Given the description of an element on the screen output the (x, y) to click on. 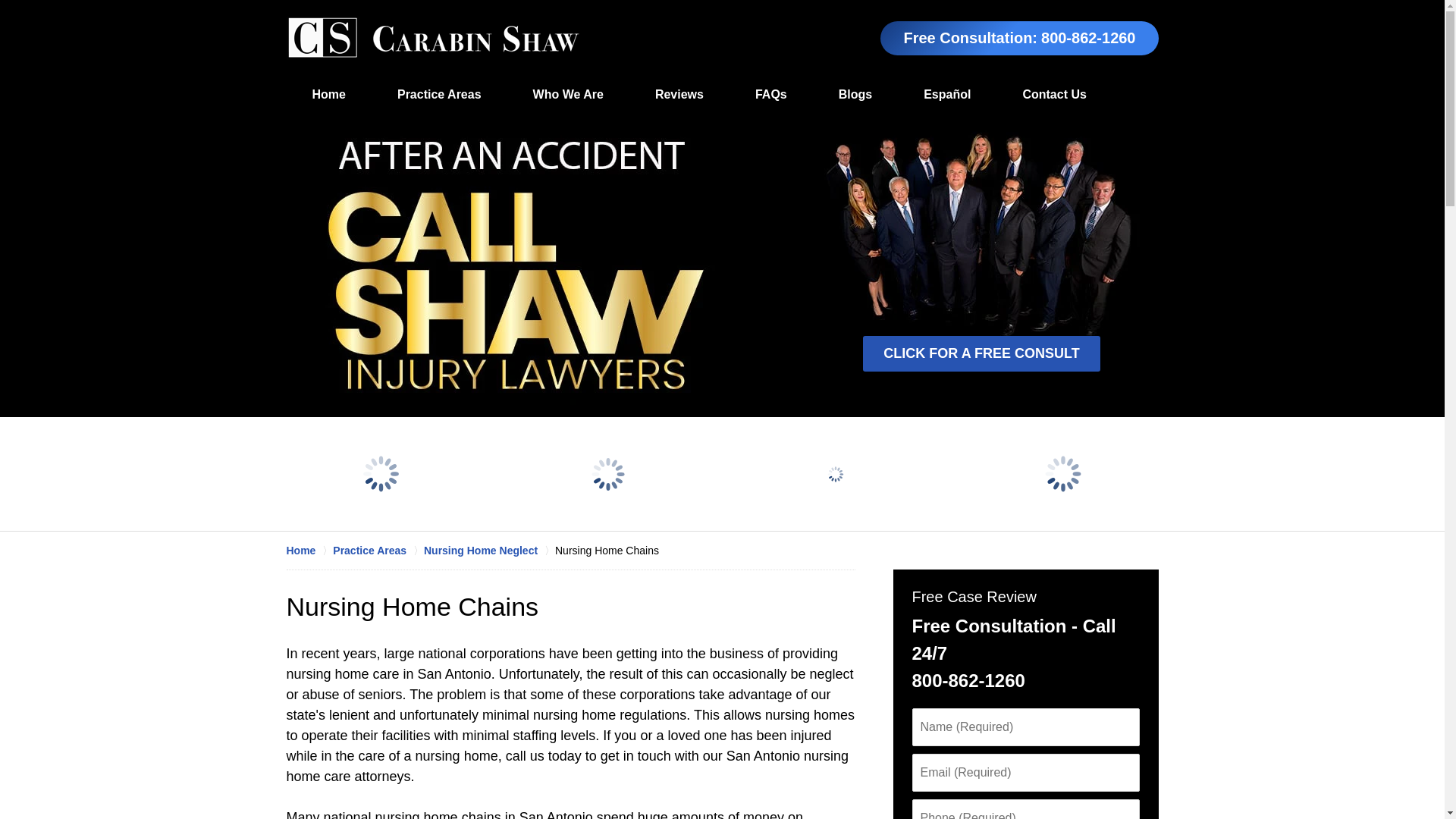
Home (328, 94)
San Antonio Elder Abuse Lawyers Carabin Shaw Home (432, 37)
Contact Us (1053, 94)
FAQs (770, 94)
Reviews (678, 94)
Home (309, 550)
Nursing Home Neglect (488, 550)
Free Case Review (973, 596)
Who We Are (567, 94)
Practice Areas (438, 94)
